Given the description of an element on the screen output the (x, y) to click on. 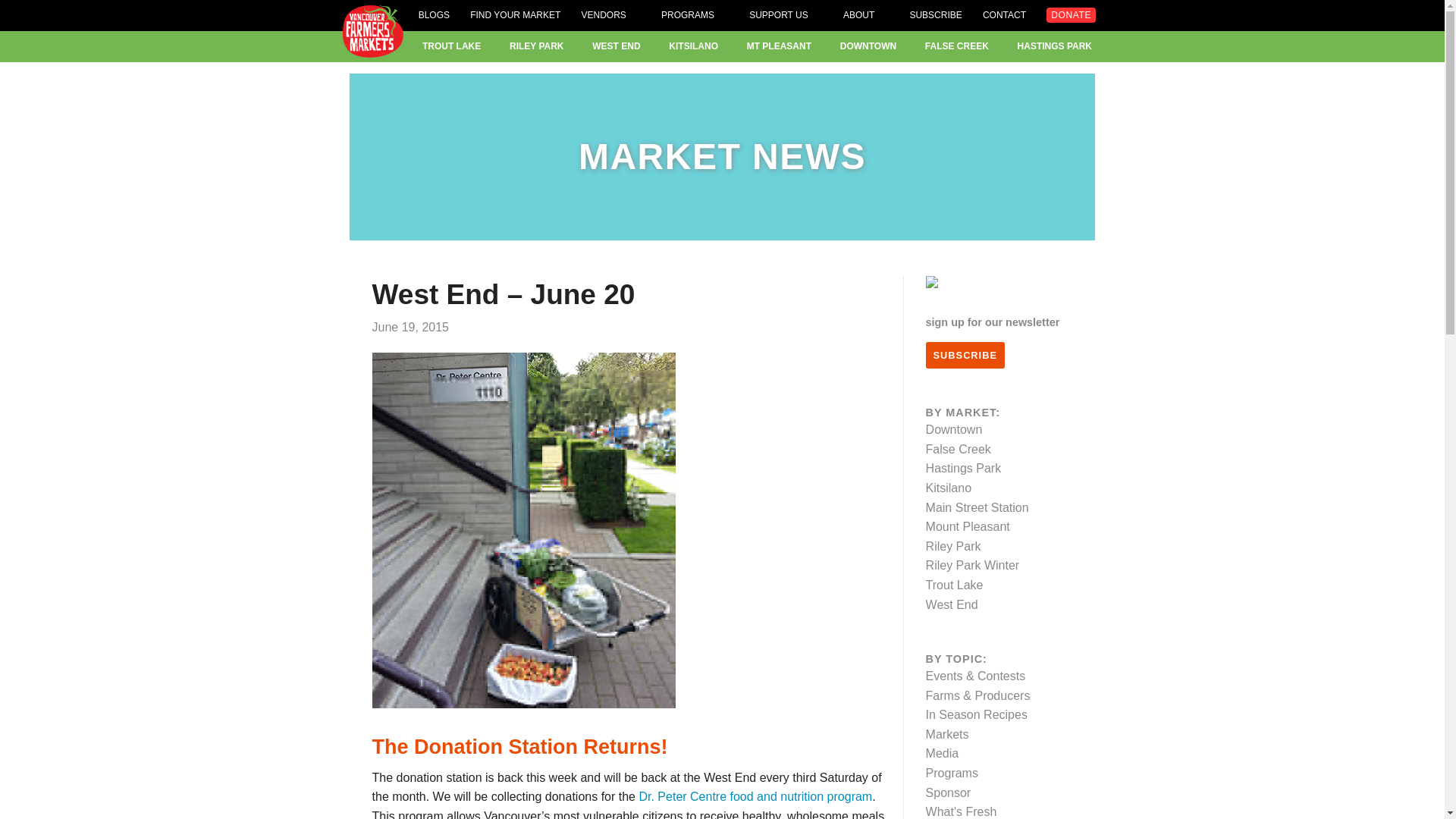
CONTACT (1004, 14)
VENDORS (610, 14)
SUBSCRIBE (934, 14)
MT PLEASANT (778, 45)
DOWNTOWN (868, 45)
KITSILANO (692, 45)
TROUT LAKE (451, 45)
PROGRAMS (695, 14)
FALSE CREEK (956, 45)
RILEY PARK (536, 45)
